Given the description of an element on the screen output the (x, y) to click on. 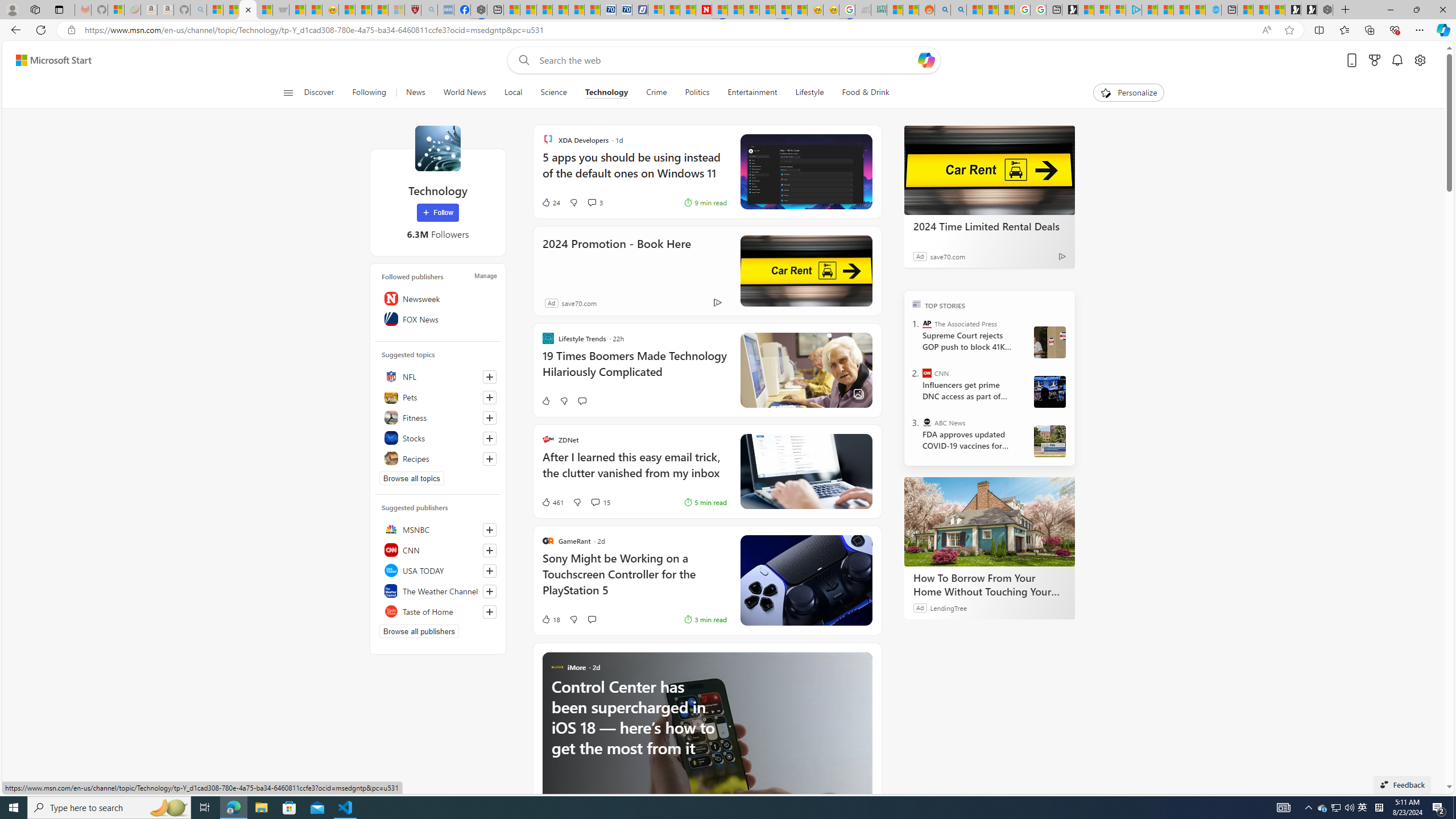
Newsweek - News, Analysis, Politics, Business, Technology (703, 9)
Pets (437, 397)
USA TODAY (437, 570)
Utah sues federal government - Search (958, 9)
LendingTree (948, 607)
Cheap Hotels - Save70.com (624, 9)
2024 Time Limited Rental Deals (989, 169)
2024 Promotion - Book Here (805, 270)
